Given the description of an element on the screen output the (x, y) to click on. 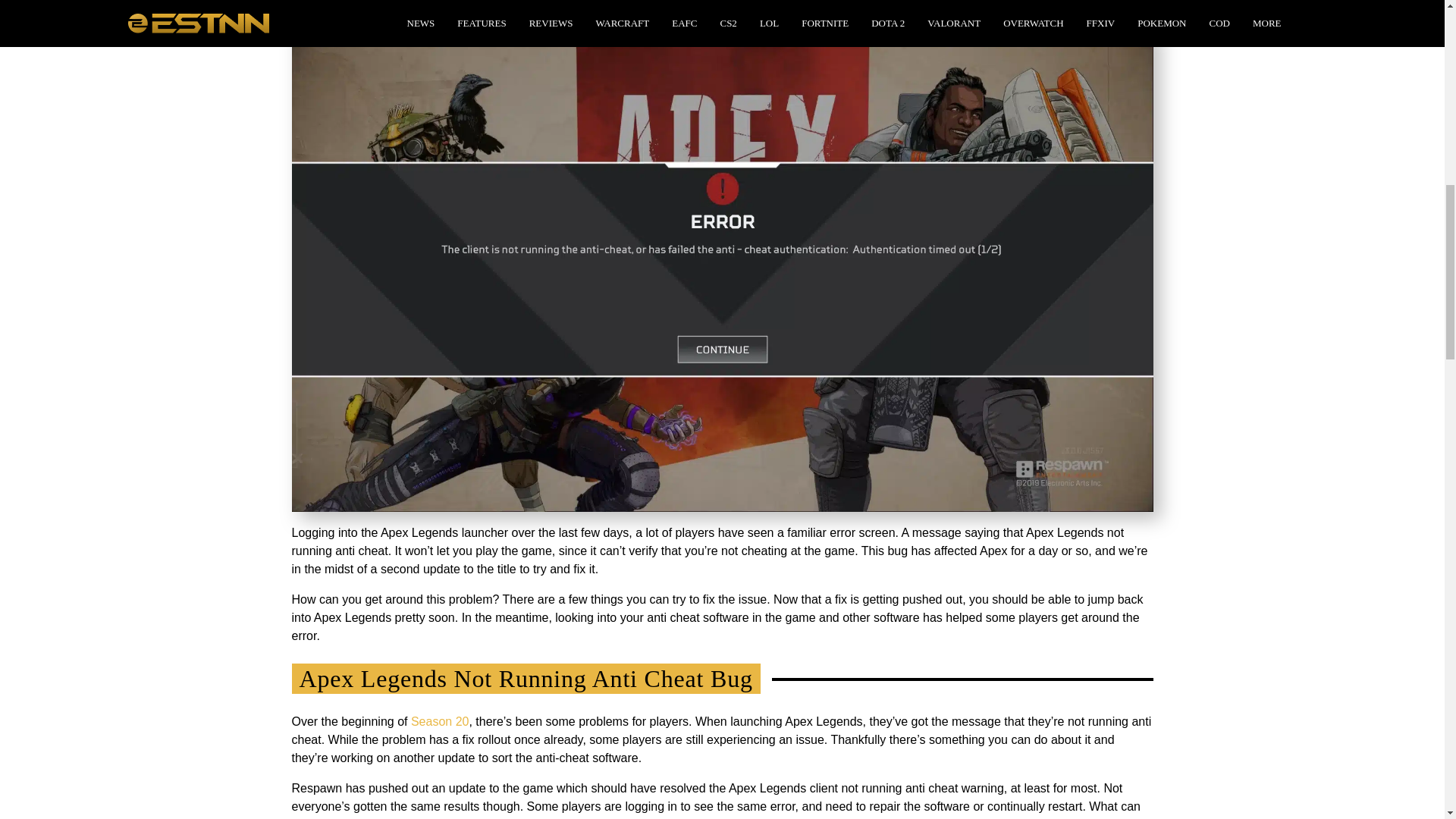
Season 20 (439, 721)
